Given the description of an element on the screen output the (x, y) to click on. 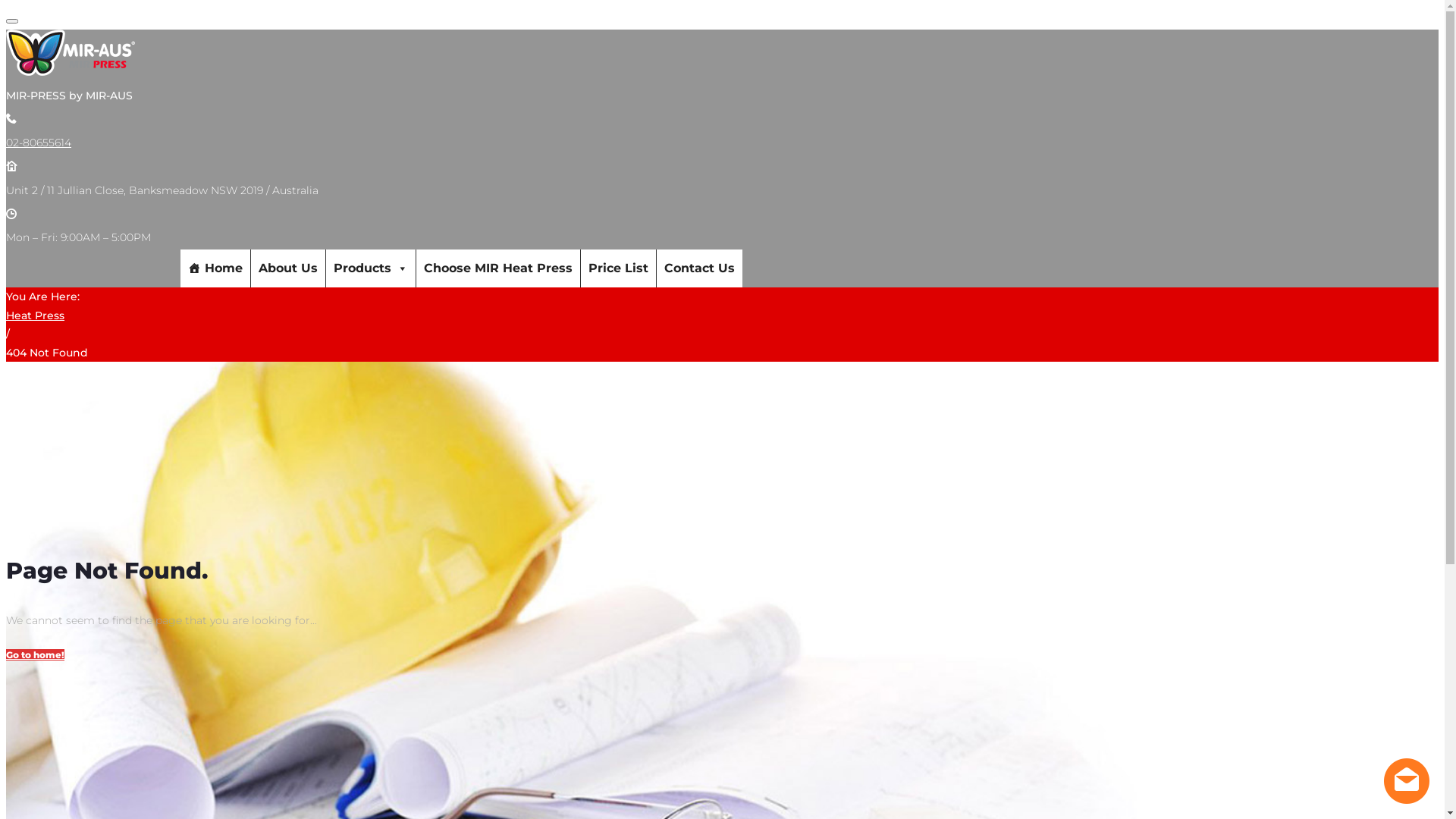
Contact Us Element type: text (699, 268)
Price List Element type: text (617, 268)
Home Element type: text (215, 268)
Choose MIR Heat Press Element type: text (497, 268)
Products Element type: text (370, 268)
Live chat offline Element type: hover (1406, 780)
Go to home! Element type: text (35, 654)
About Us Element type: text (287, 268)
02-80655614 Element type: text (38, 142)
Skip to content Element type: text (5, 5)
Heat Press Element type: text (35, 315)
